Given the description of an element on the screen output the (x, y) to click on. 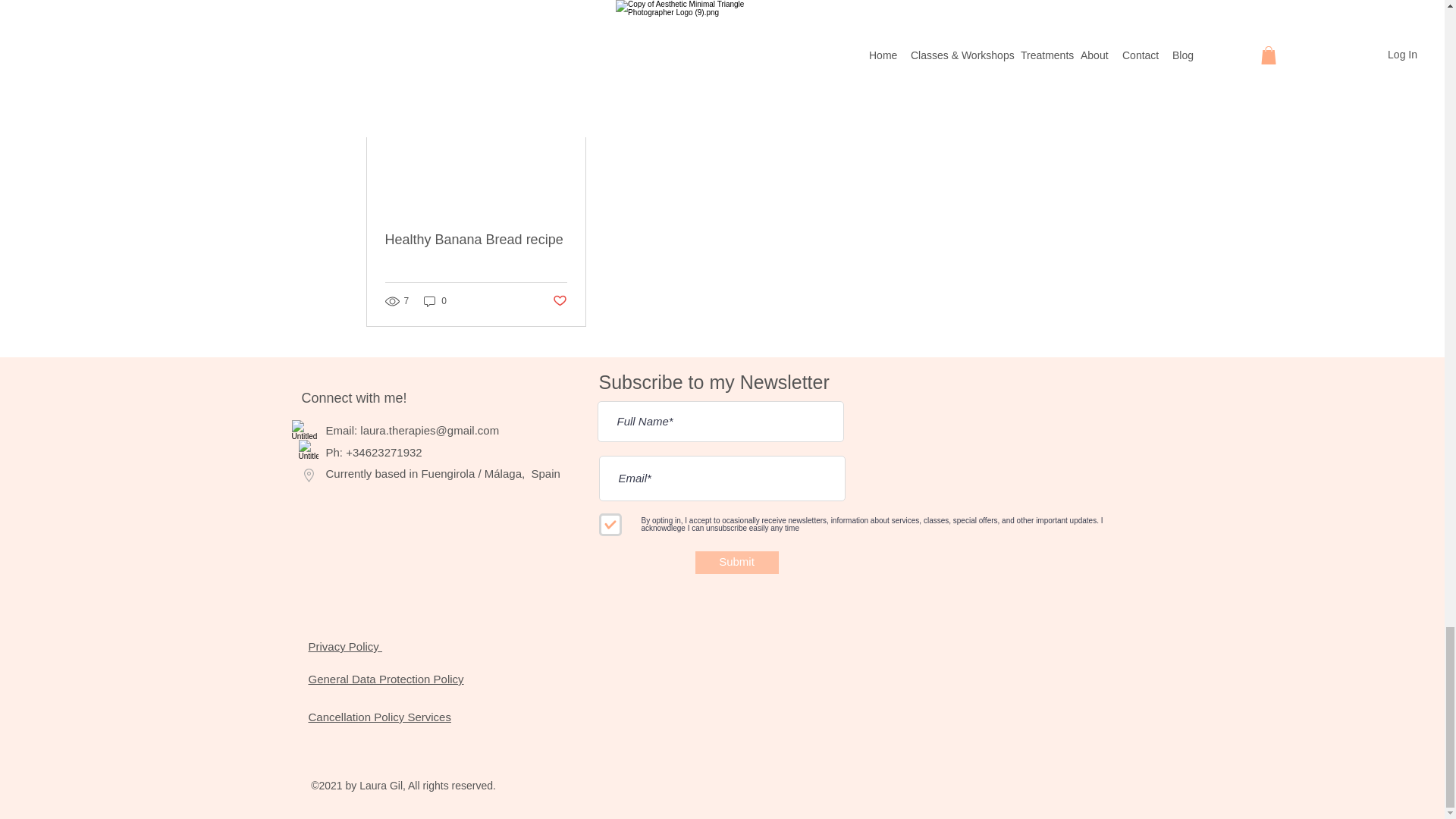
See All (1061, 64)
Cancellation Policy Services (378, 716)
Post not marked as liked (558, 301)
General Data Protection Policy (385, 678)
0 (435, 301)
Submit (735, 562)
Privacy Policy  (344, 645)
Healthy Banana Bread recipe (476, 239)
